Given the description of an element on the screen output the (x, y) to click on. 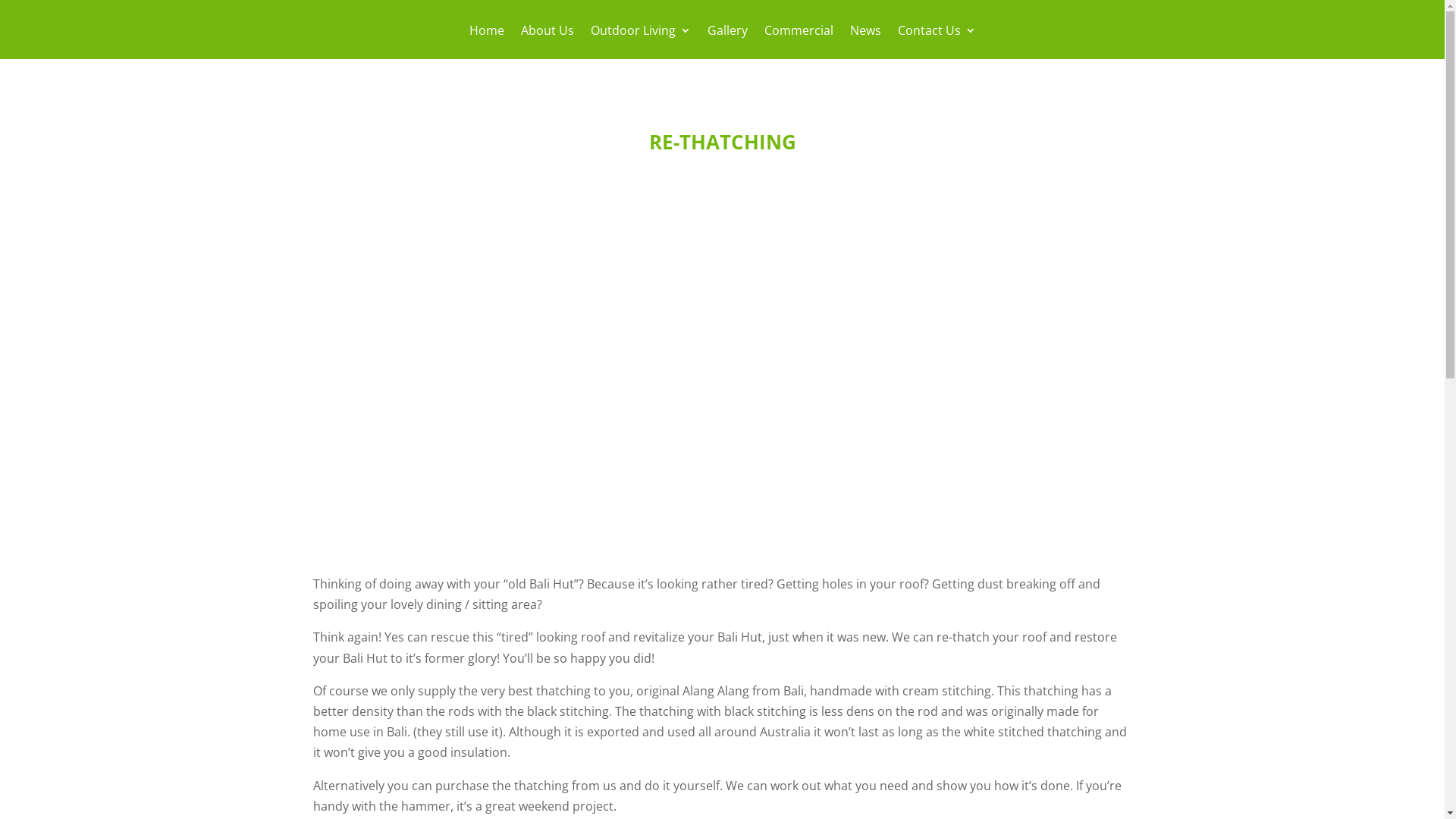
Home Element type: text (485, 41)
Contact Us Element type: text (936, 41)
Gallery Element type: text (726, 41)
Outdoor Living Element type: text (639, 41)
Commercial Element type: text (798, 41)
News Element type: text (864, 41)
About Us Element type: text (546, 41)
